Given the description of an element on the screen output the (x, y) to click on. 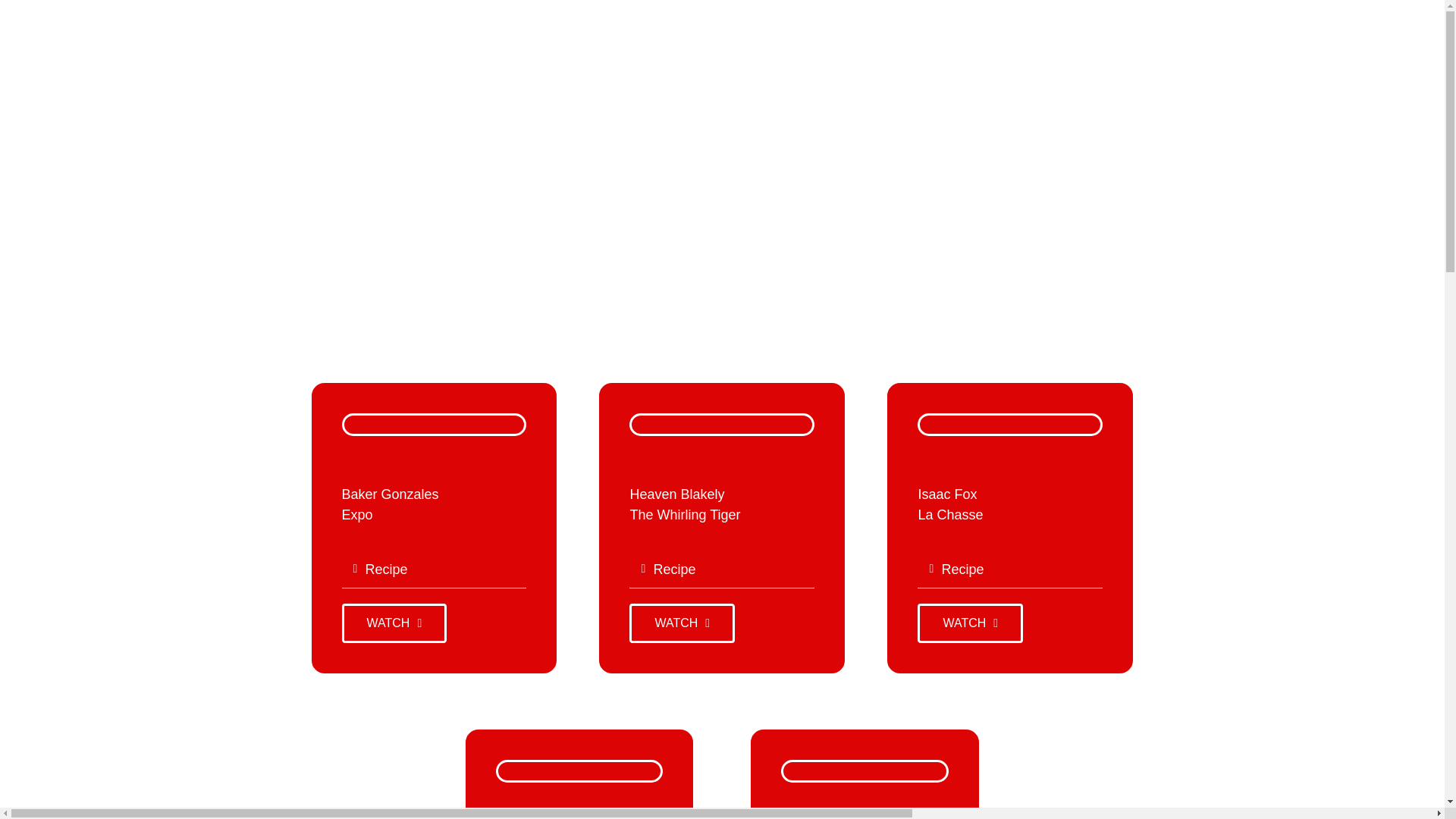
Recipe (962, 569)
Recipe (673, 569)
WATCH (393, 622)
Recipe (386, 569)
WATCH (681, 622)
WATCH (970, 622)
